Given the description of an element on the screen output the (x, y) to click on. 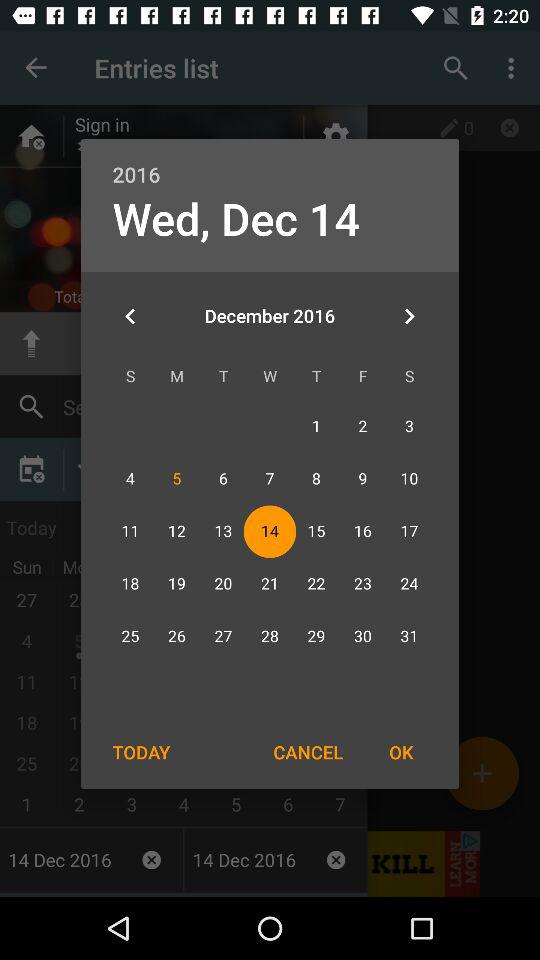
tap icon below 2016 item (236, 218)
